Given the description of an element on the screen output the (x, y) to click on. 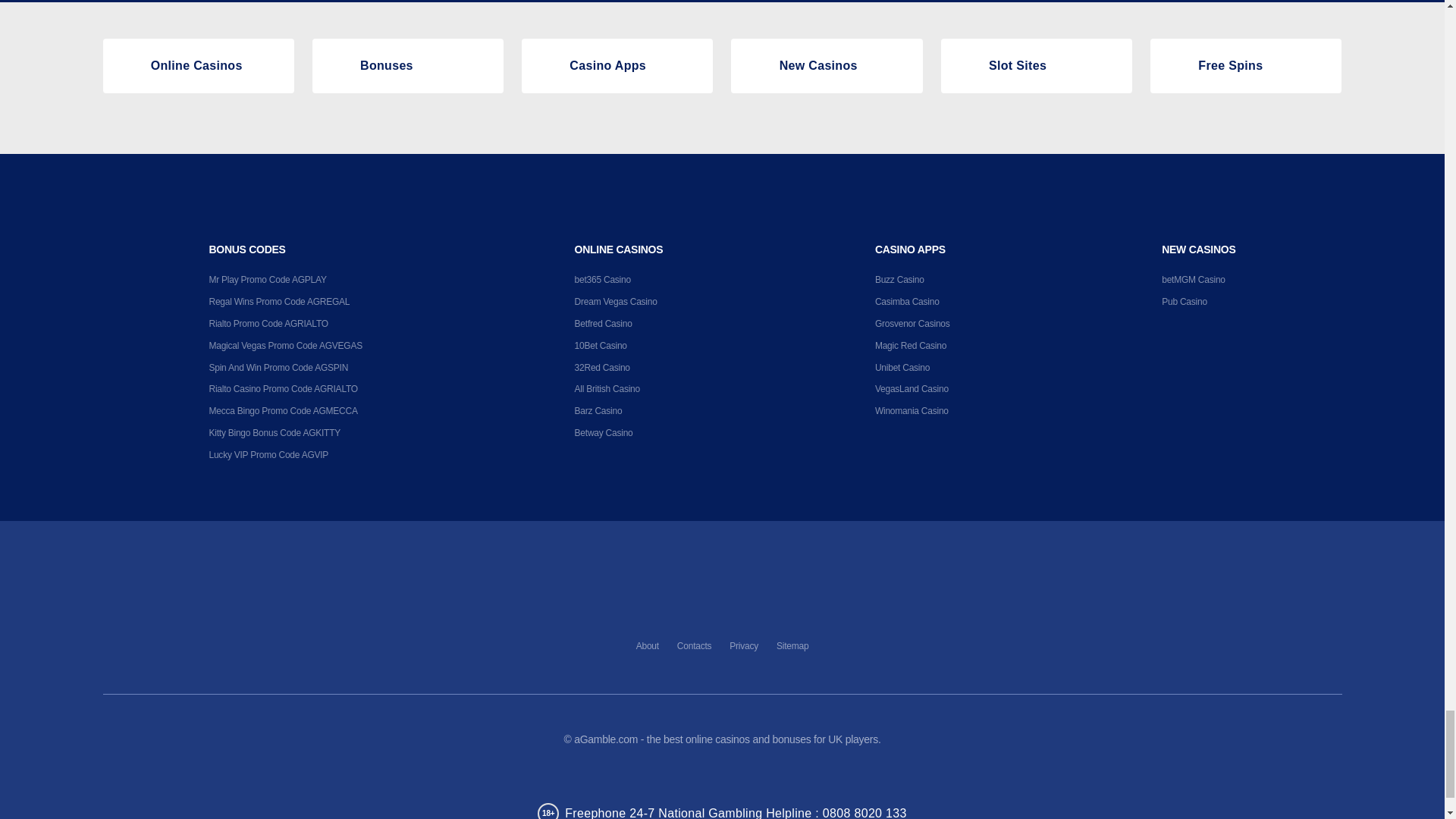
slots - aGamble.com (548, 65)
slots - aGamble.com (339, 65)
betting - aGamble.com (129, 65)
casino - aGamble.com (757, 65)
poker - aGamble.com (967, 65)
